Given the description of an element on the screen output the (x, y) to click on. 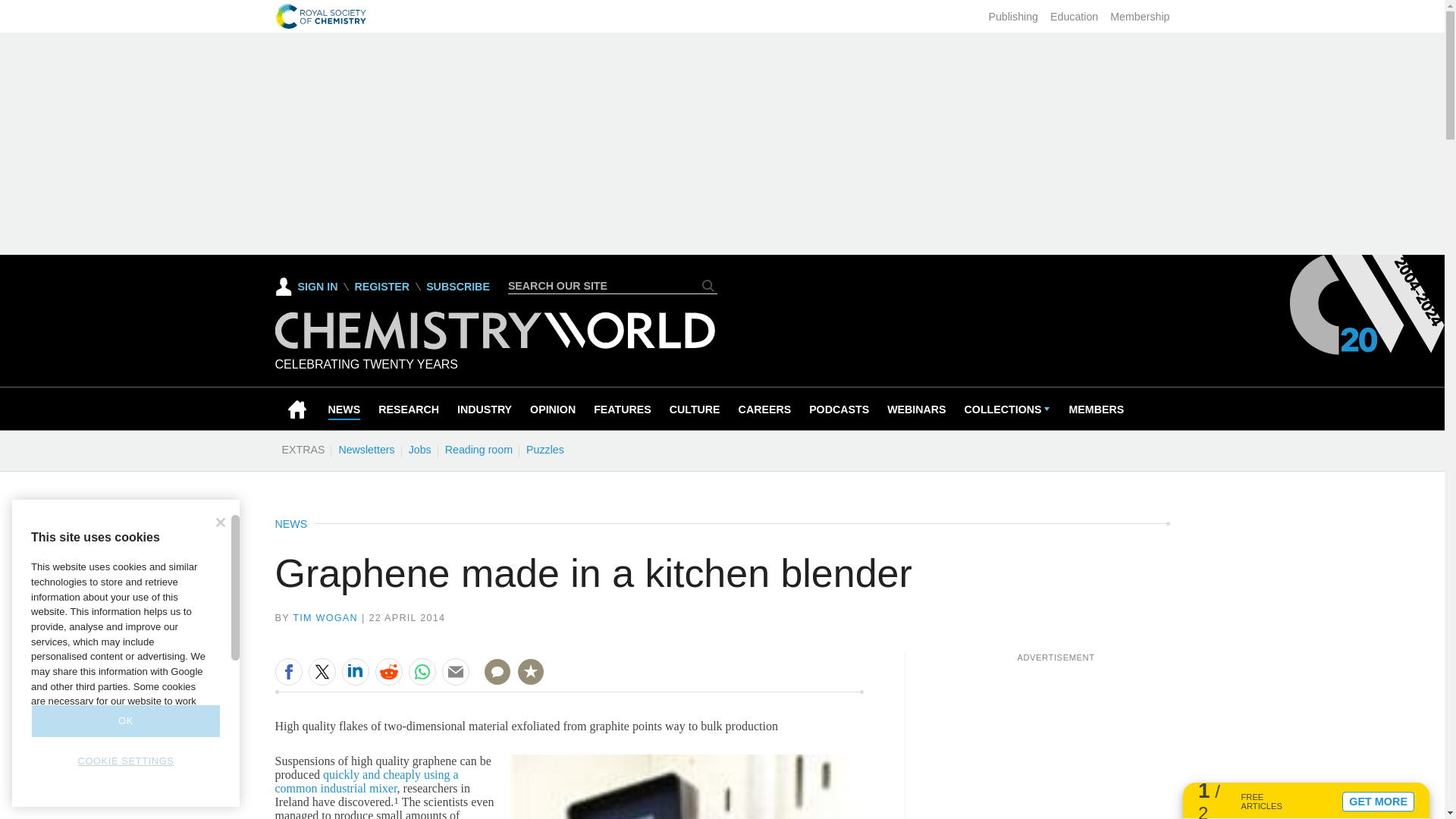
Share this by email (454, 671)
Chemistry World (494, 330)
Reading room (478, 449)
Publishing (1013, 16)
Newsletters (366, 449)
NO COMMENTS (492, 680)
Membership (1139, 16)
Puzzles (544, 449)
Share this on Reddit (387, 671)
SUBSCRIBE (457, 286)
Share this on LinkedIn (354, 671)
Share this on WhatsApp (421, 671)
Share this on Facebook (288, 671)
Jobs (419, 449)
